Given the description of an element on the screen output the (x, y) to click on. 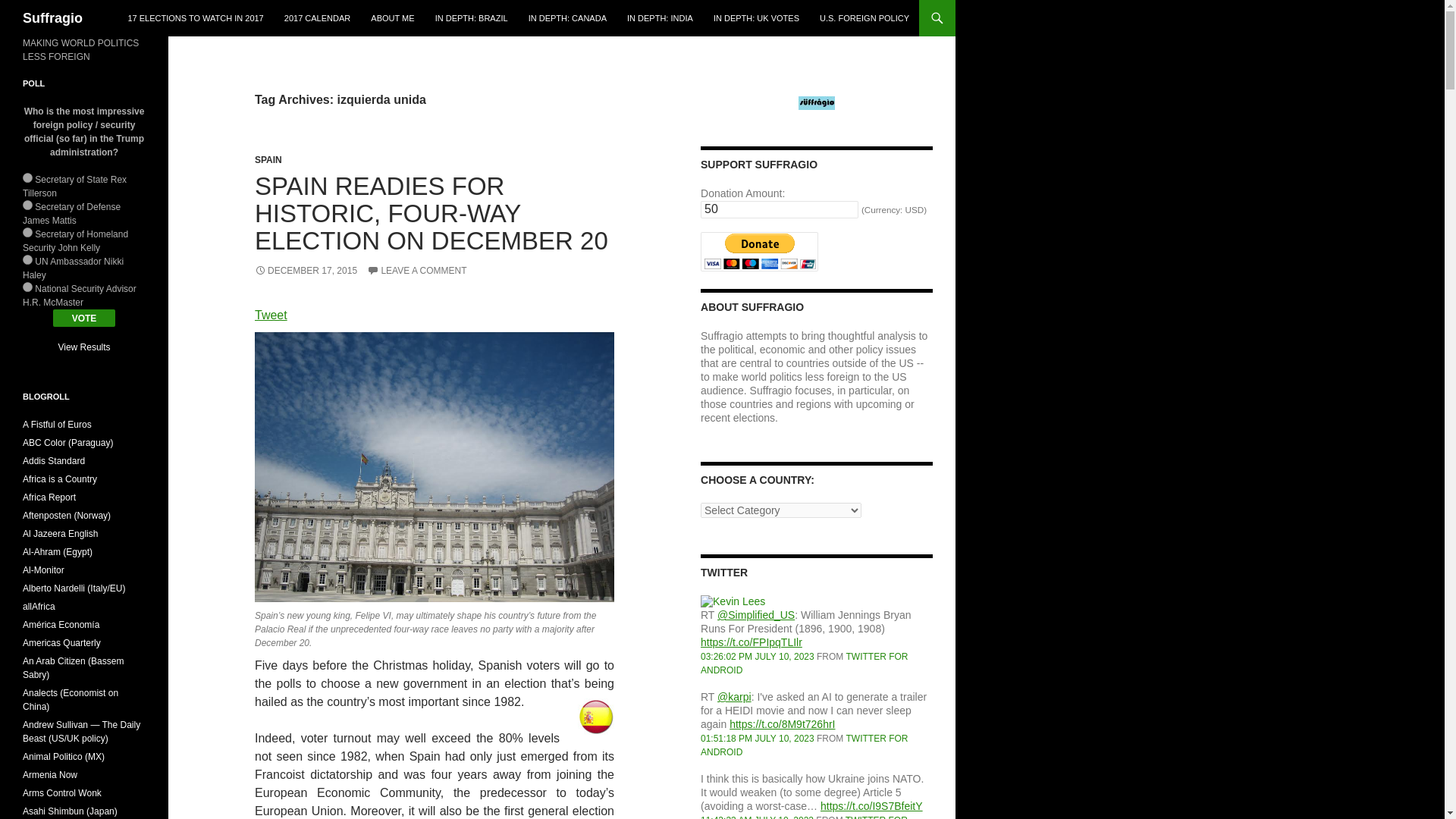
50 (779, 209)
   Vote    (84, 317)
17 ELECTIONS TO WATCH IN 2017 (194, 18)
92 (27, 204)
SPAIN READIES FOR HISTORIC, FOUR-WAY ELECTION ON DECEMBER 20 (431, 212)
U.S. FOREIGN POLICY (864, 18)
95 (27, 286)
94 (27, 259)
IN DEPTH: BRAZIL (471, 18)
2017 CALENDAR (317, 18)
